Given the description of an element on the screen output the (x, y) to click on. 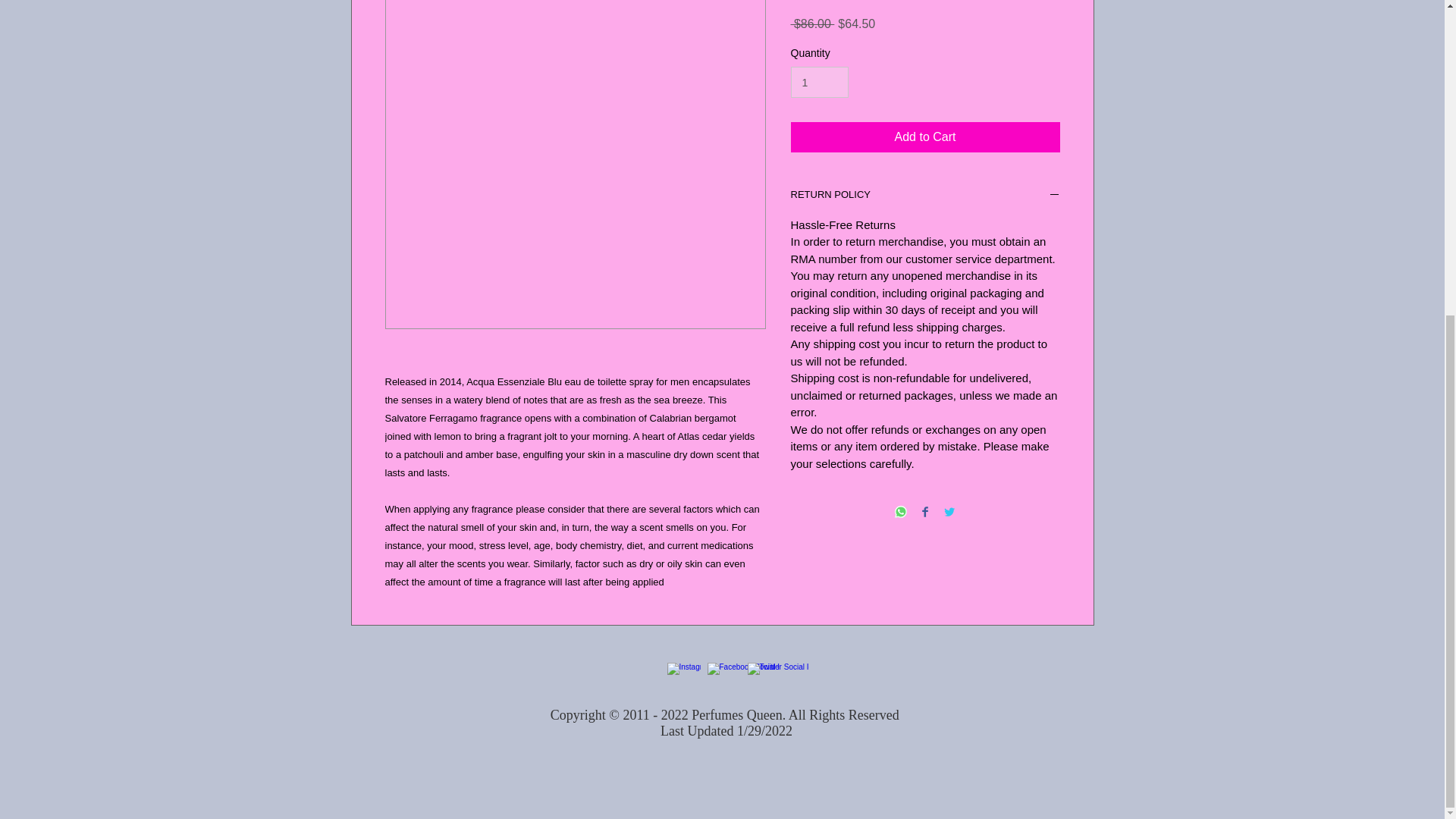
RETURN POLICY (924, 196)
1 (818, 81)
Add to Cart (924, 137)
